Given the description of an element on the screen output the (x, y) to click on. 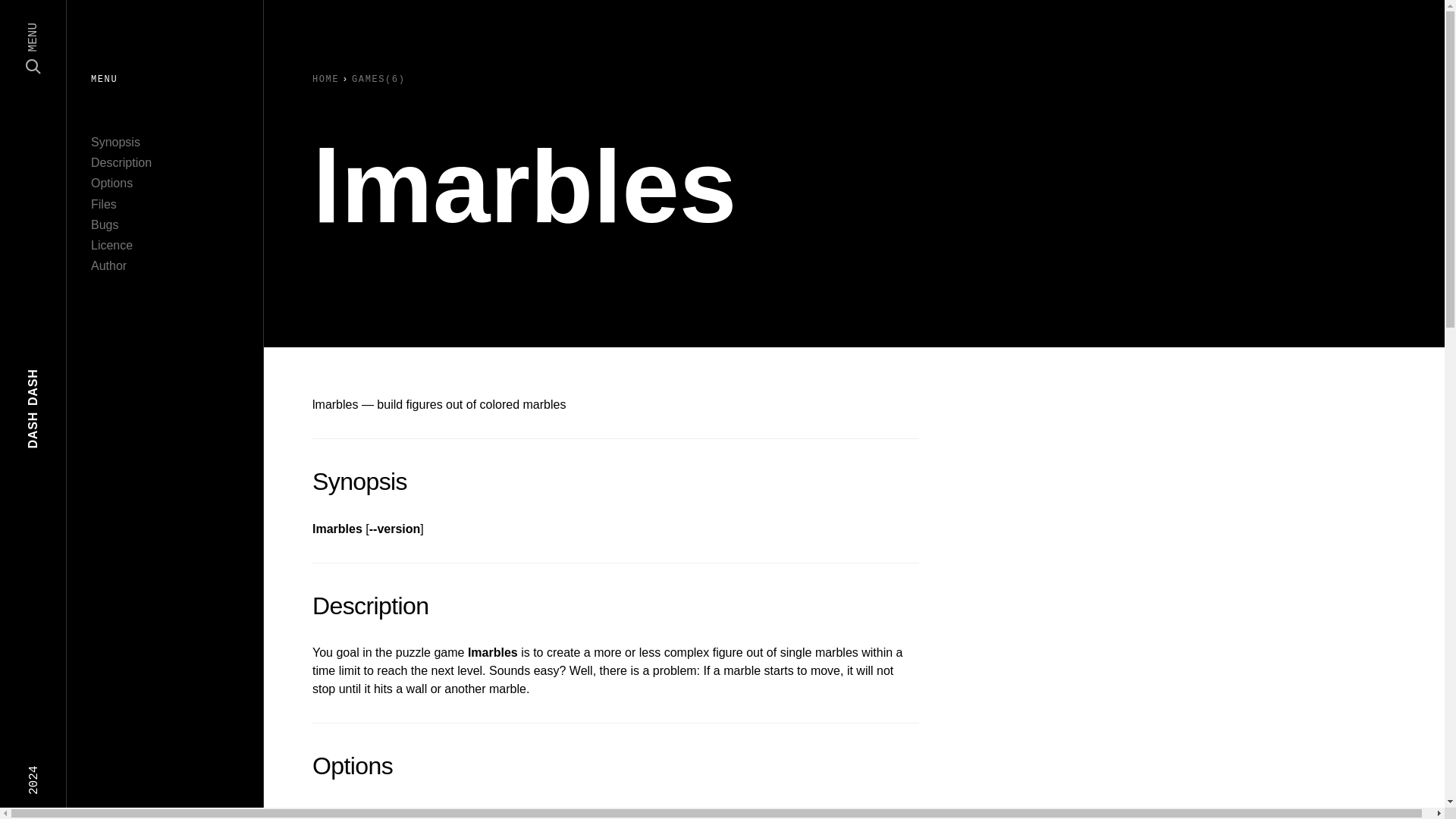
Options (111, 182)
Synopsis (187, 254)
HOME (114, 141)
Author (326, 79)
Files (108, 265)
Bugs (103, 204)
Description (103, 224)
Licence (120, 162)
